Given the description of an element on the screen output the (x, y) to click on. 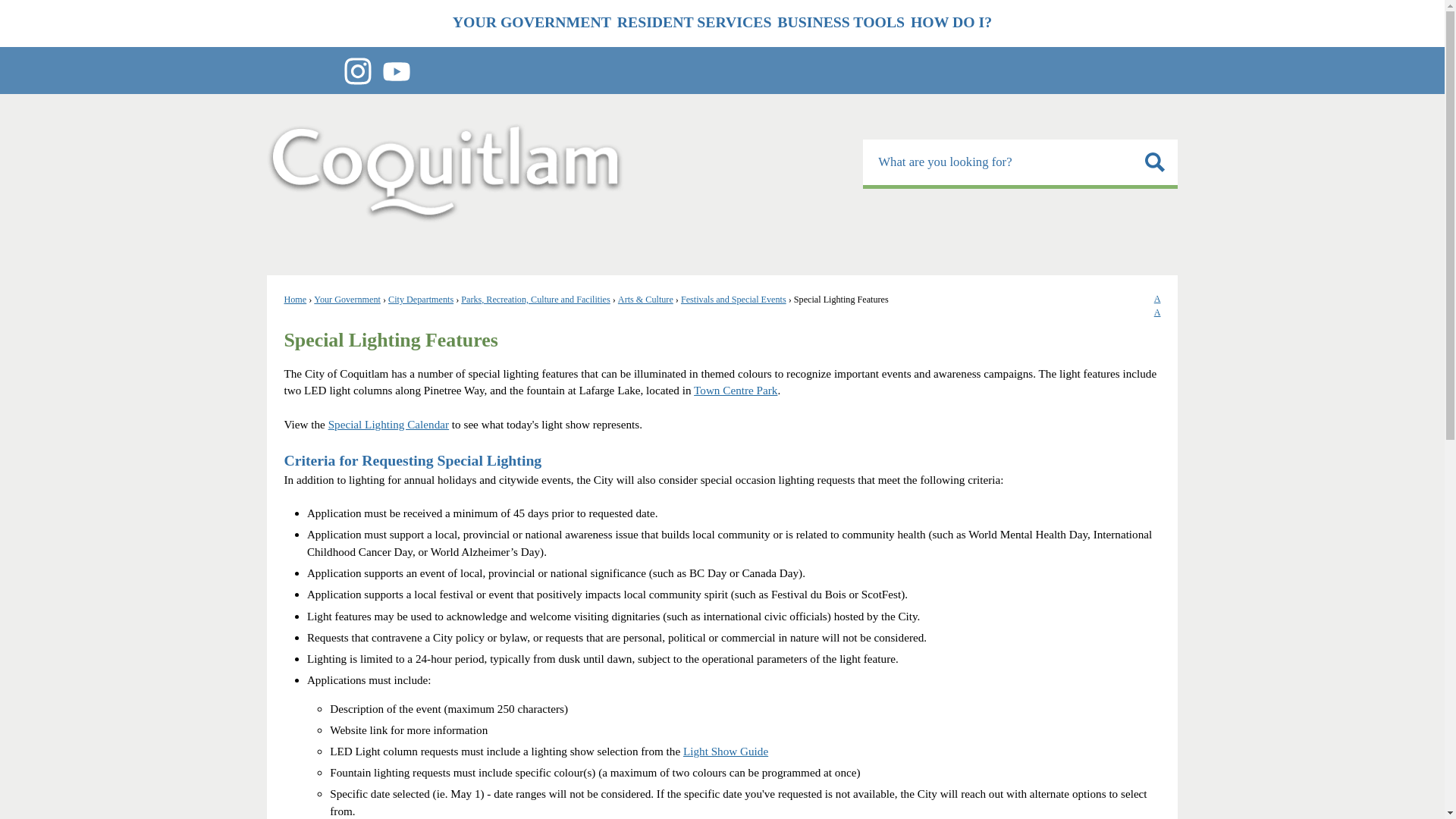
LinkedIn (435, 71)
Special Lighting Calendar (388, 423)
Instagram (357, 71)
RESIDENT SERVICES (694, 23)
Parks, Recreation, Culture and Facilities (535, 299)
Facebook (280, 71)
YouTube (396, 71)
Light Show Guide (725, 750)
What are you looking for? (1020, 164)
BUSINESS TOOLS (840, 23)
